Given the description of an element on the screen output the (x, y) to click on. 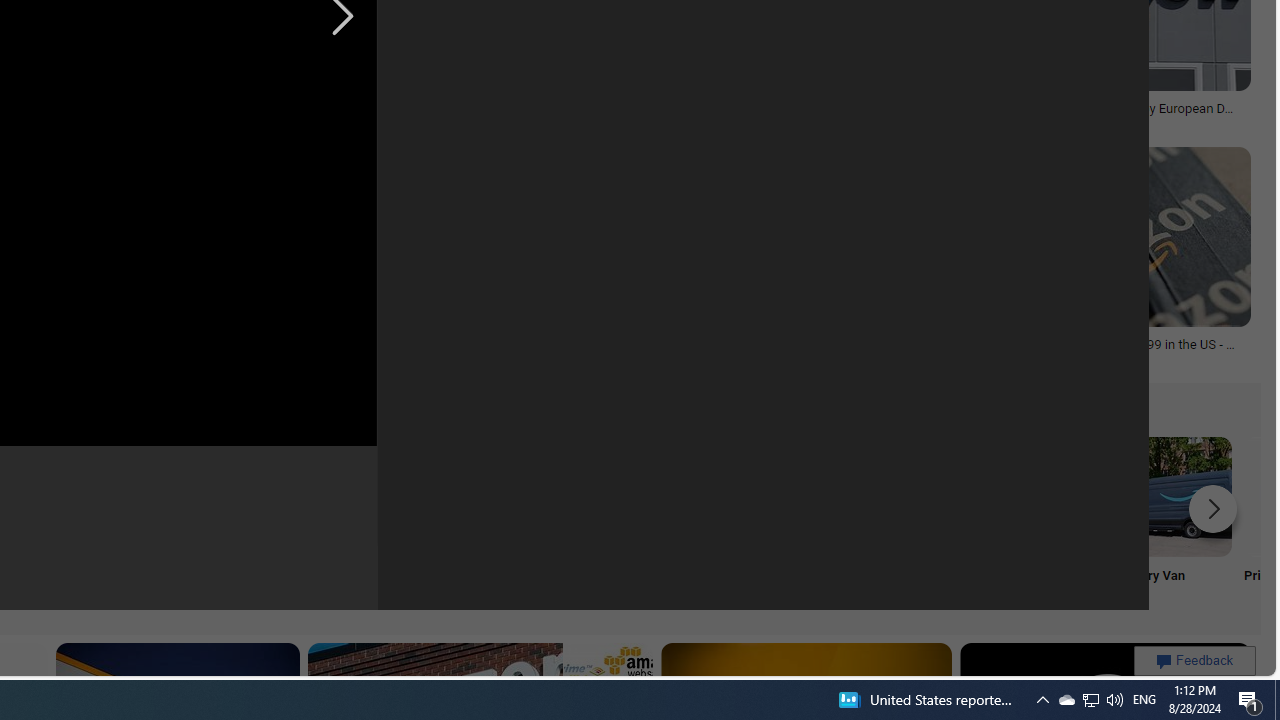
Amazon Official Website Official Website (907, 521)
PC World (320, 123)
amazon.com.mx (669, 358)
Amazon Online Shopping Homepage (248, 496)
Sale Items (775, 521)
Amazon Prime Shopping Online Prime Shopping Online (380, 521)
Best Amazon Cyber Monday deals 2019 | PCWorld (320, 114)
App Store Download (1039, 521)
